Given the description of an element on the screen output the (x, y) to click on. 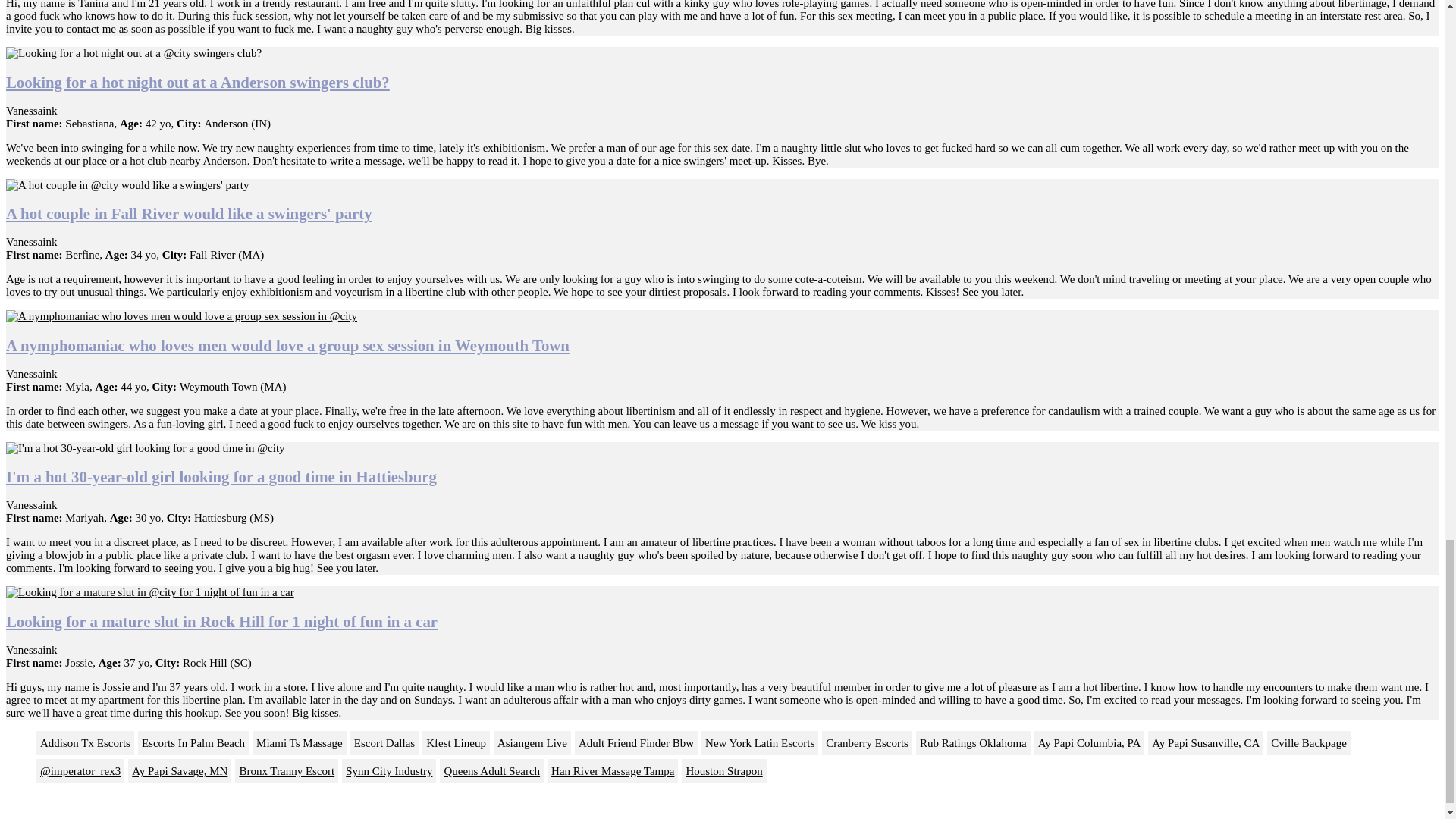
Miami Ts Massage (298, 743)
Adult Friend Finder Bbw (636, 743)
Synn City Industry (388, 770)
Escort Dallas (384, 743)
Ay Papi Savage, MN (179, 770)
Asiangem Live (531, 743)
Addison Tx Escorts (84, 743)
Cville Backpage (1308, 743)
Ay Papi Susanville, CA (1205, 743)
New York Latin Escorts (759, 743)
Bronx Tranny Escort (285, 770)
Cranberry Escorts (867, 743)
A hot couple in Fall River would like a swingers' party (188, 212)
